Given the description of an element on the screen output the (x, y) to click on. 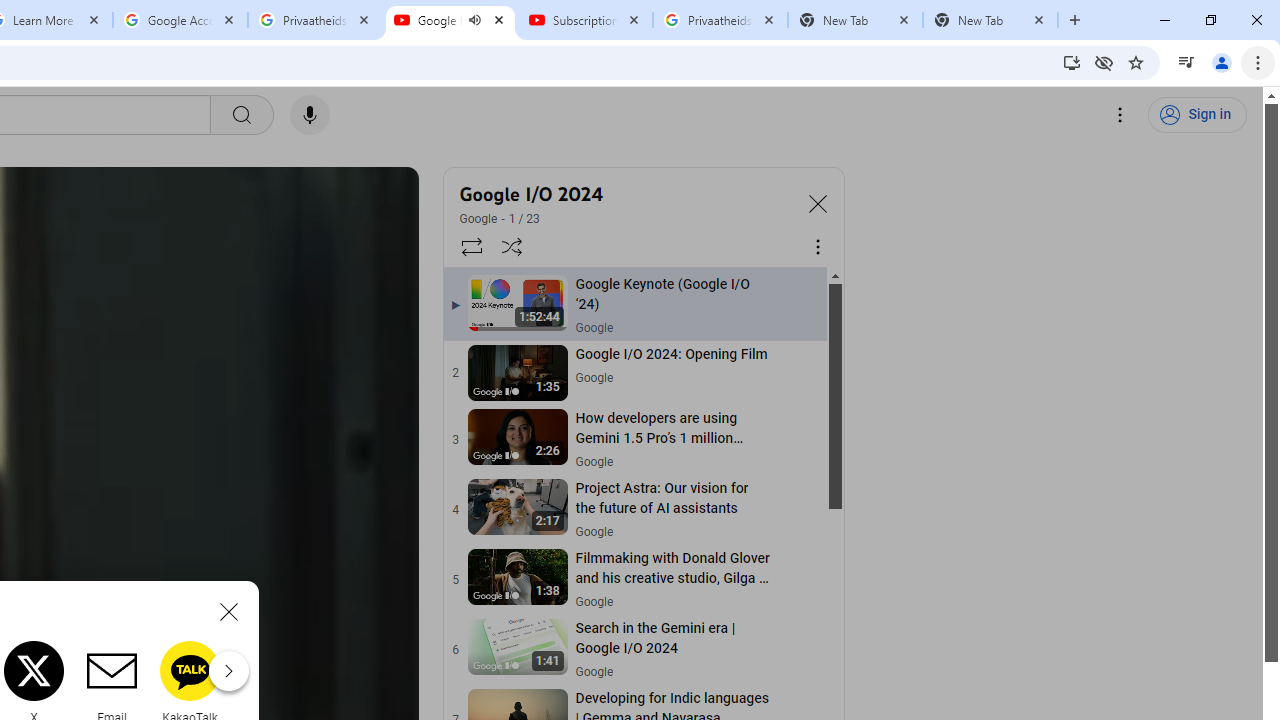
New Tab (990, 20)
Install YouTube (1071, 62)
Loop playlist (470, 246)
Google I/O 2024 (625, 194)
Shuffle playlist (511, 246)
Collapse (817, 202)
Action menu (798, 650)
